Given the description of an element on the screen output the (x, y) to click on. 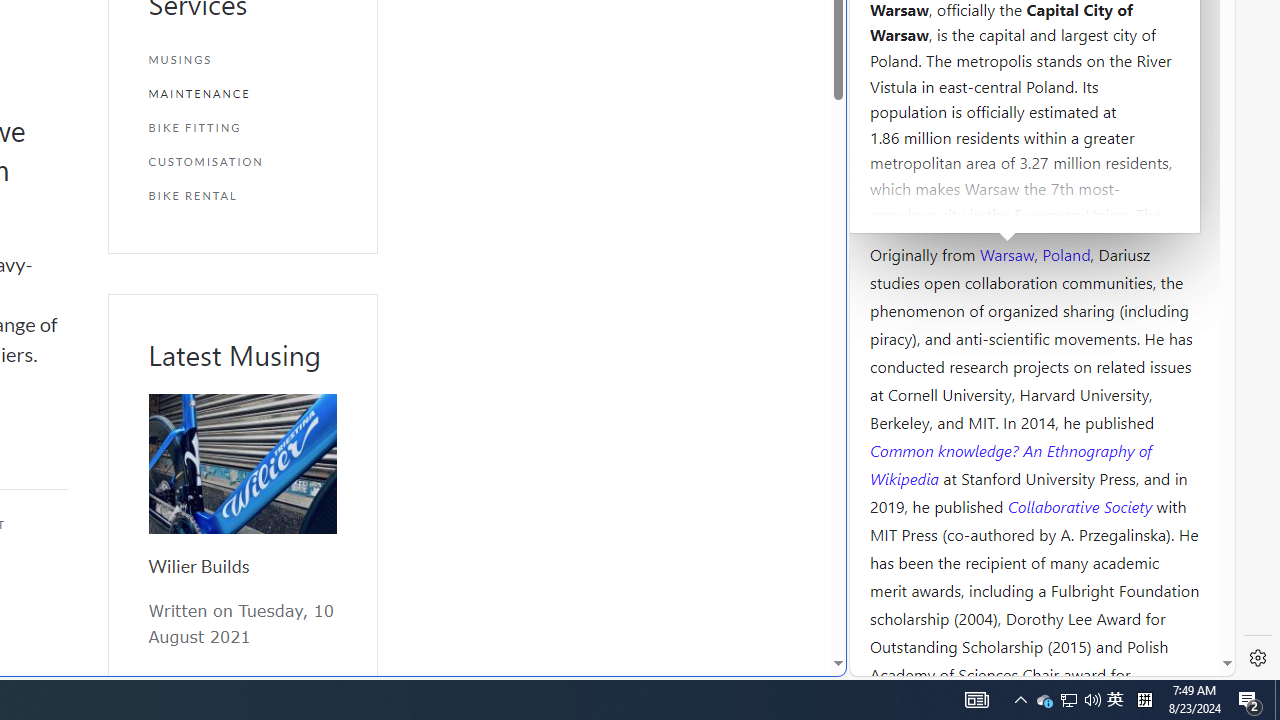
MUSINGS (242, 60)
BIKE FITTING (242, 127)
MUSINGS (242, 60)
BIKE FITTING (242, 127)
Poland (1065, 253)
